Given the description of an element on the screen output the (x, y) to click on. 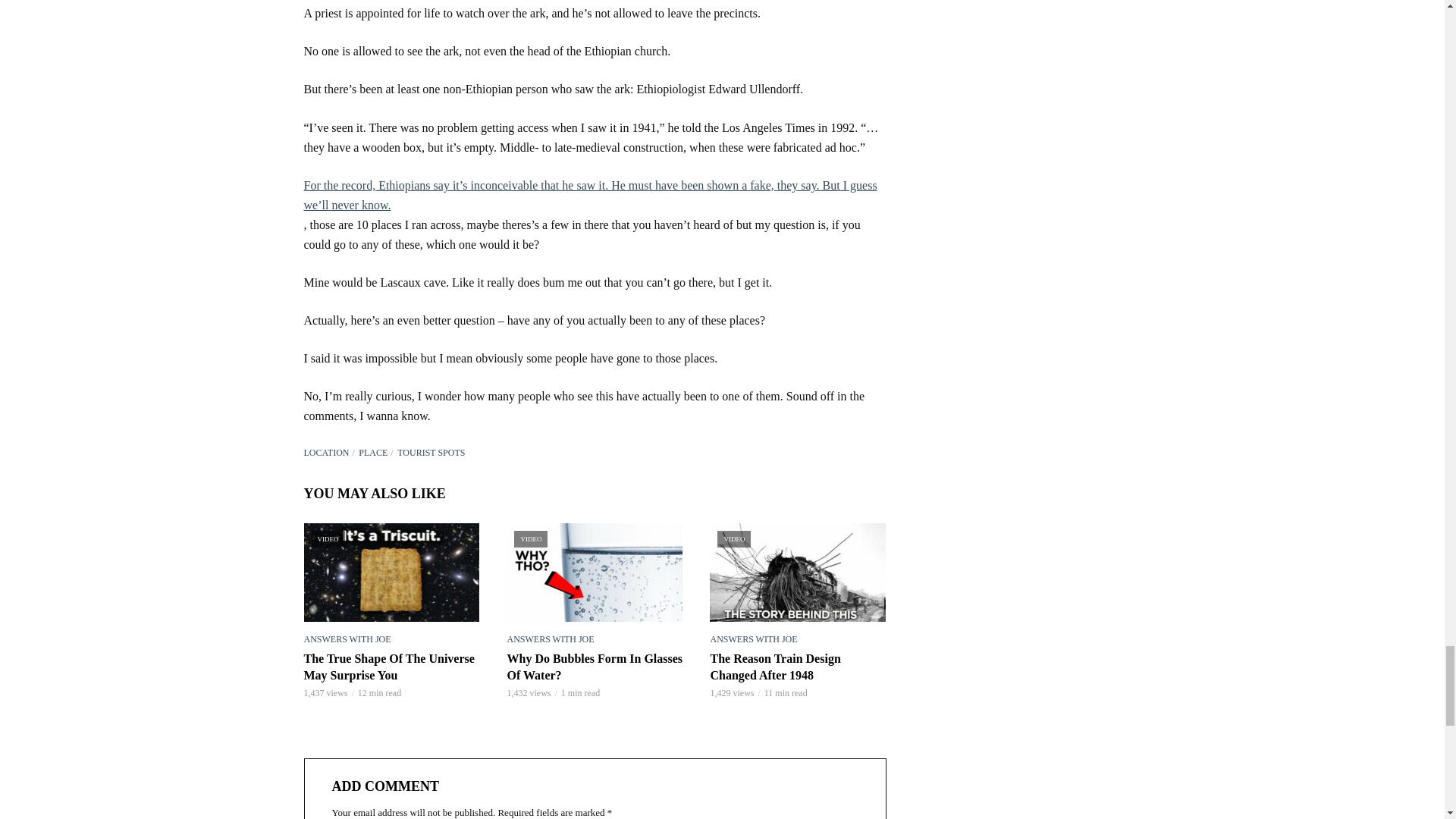
The True Shape Of The Universe May Surprise You (390, 572)
The Reason Train Design Changed After 1948 (797, 572)
Why Do Bubbles Form In Glasses Of Water? (594, 572)
